Given the description of an element on the screen output the (x, y) to click on. 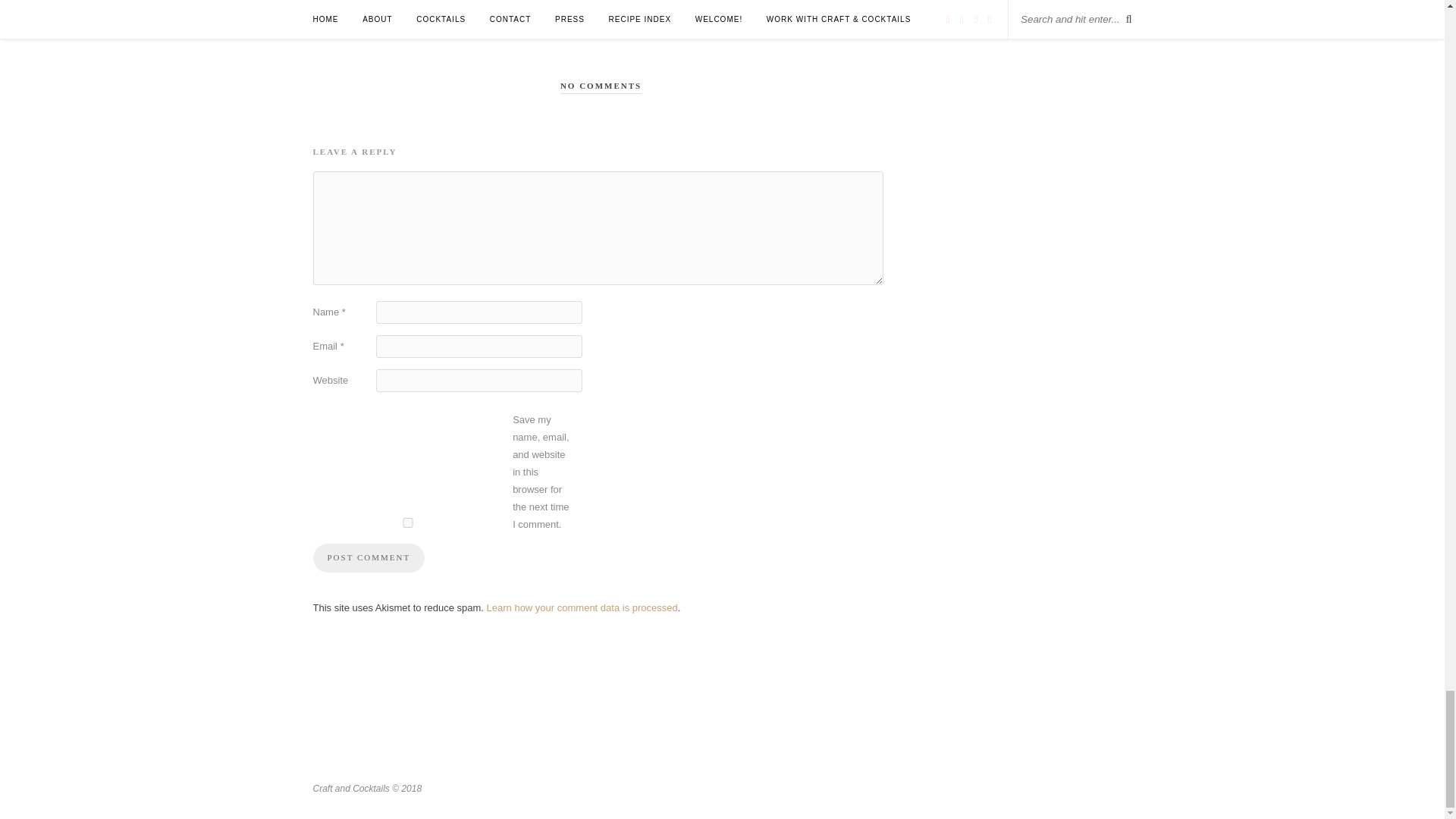
Learn how your comment data is processed (582, 607)
Wisteria Flower Cordial (757, 12)
Post Comment (369, 557)
Post Comment (369, 557)
Bunny Lebowski- Carrot White Russian (398, 12)
The Cantaloopy (543, 12)
yes (407, 522)
